Given the description of an element on the screen output the (x, y) to click on. 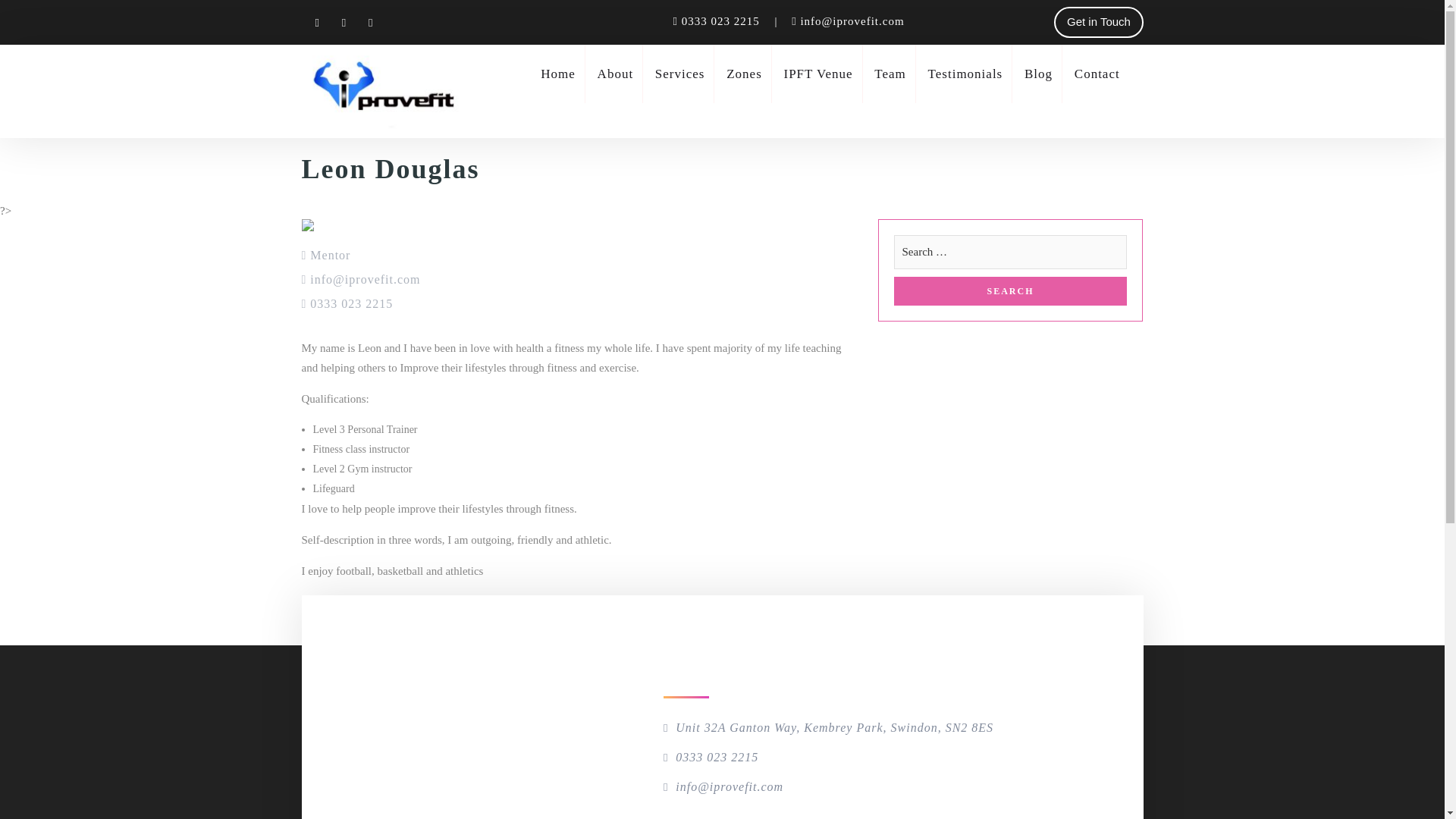
Search (1009, 290)
Services (679, 73)
Testimonials (965, 73)
0333 023 2215 (721, 21)
Home (557, 73)
IPFT Venue (818, 73)
Contact (1096, 73)
About (614, 73)
Get in Touch (1098, 21)
Search (1009, 290)
